Given the description of an element on the screen output the (x, y) to click on. 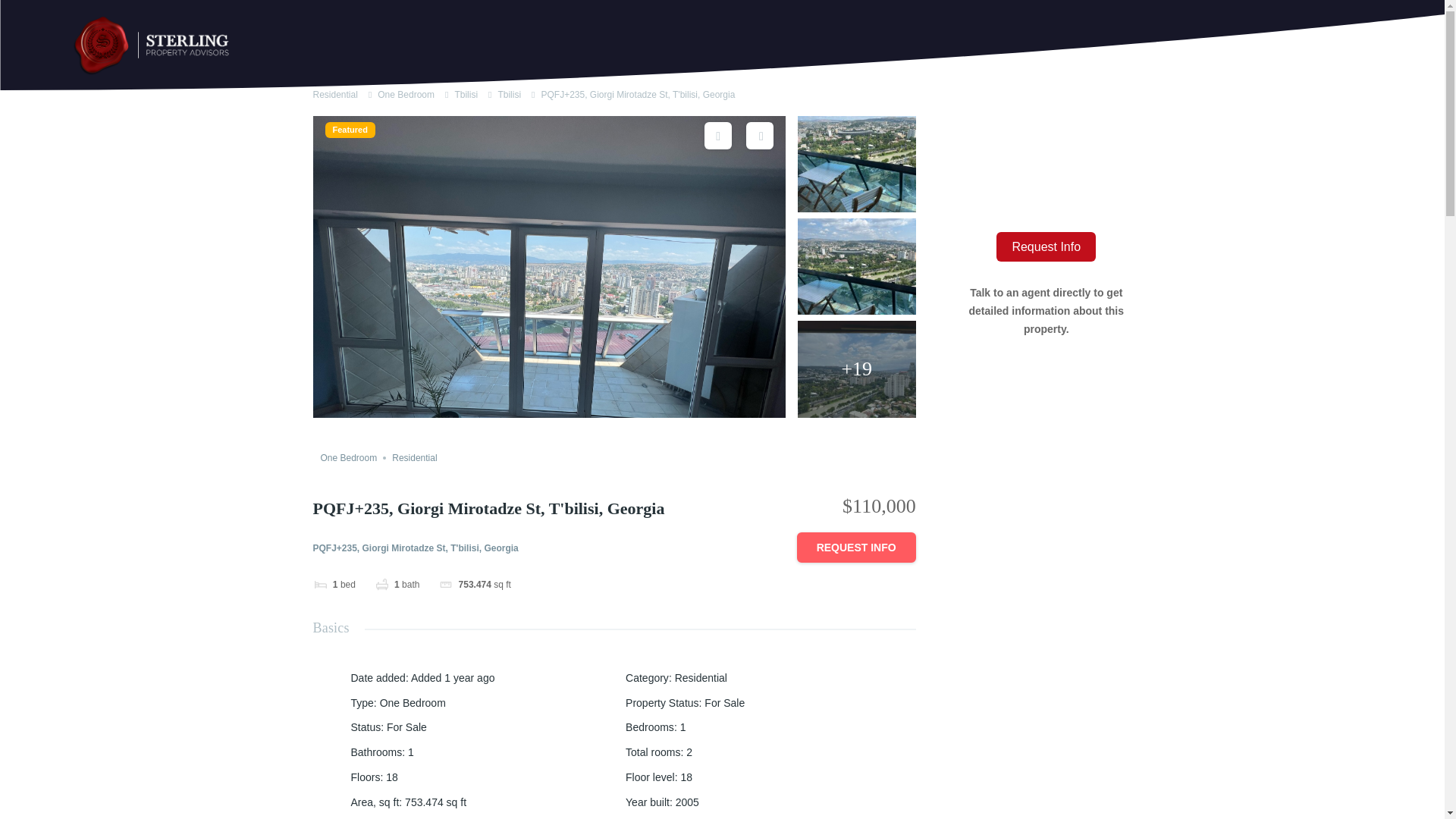
One Bedroom (348, 457)
Residential (334, 94)
Residential (413, 457)
One Bedroom (405, 94)
Featured (348, 130)
logo (152, 45)
REQUEST INFO (855, 547)
Tbilisi (509, 94)
REQUEST INFO (855, 547)
Tbilisi (465, 94)
